Given the description of an element on the screen output the (x, y) to click on. 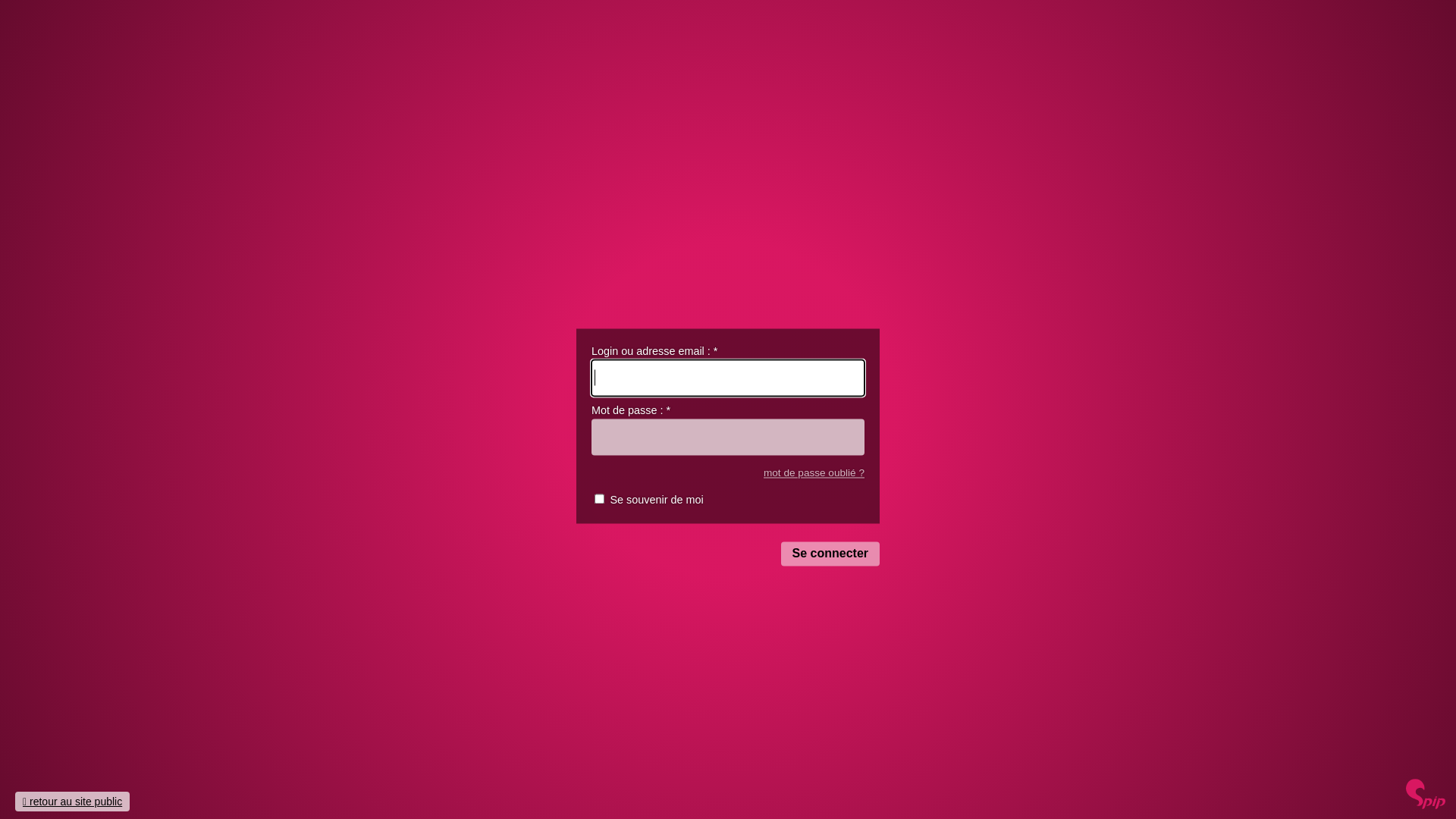
retour au site public Element type: text (72, 801)
Se connecter Element type: text (830, 554)
